Given the description of an element on the screen output the (x, y) to click on. 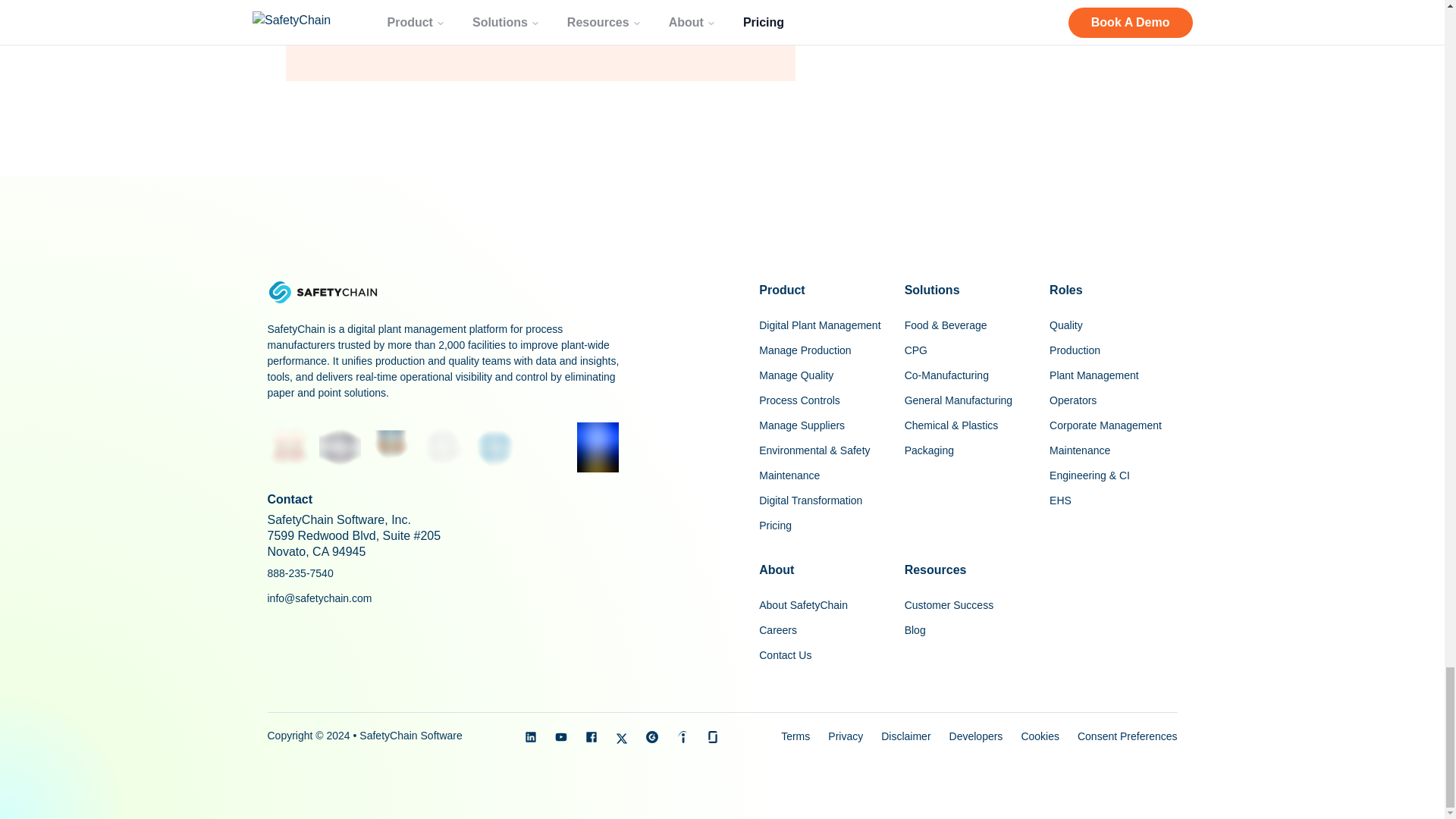
Maintenance (822, 475)
Digital Plant Management (822, 325)
Manage Production (822, 350)
Manage Quality (822, 375)
Process Controls (822, 400)
Manage Suppliers (822, 425)
888-235-7540 (299, 573)
